Given the description of an element on the screen output the (x, y) to click on. 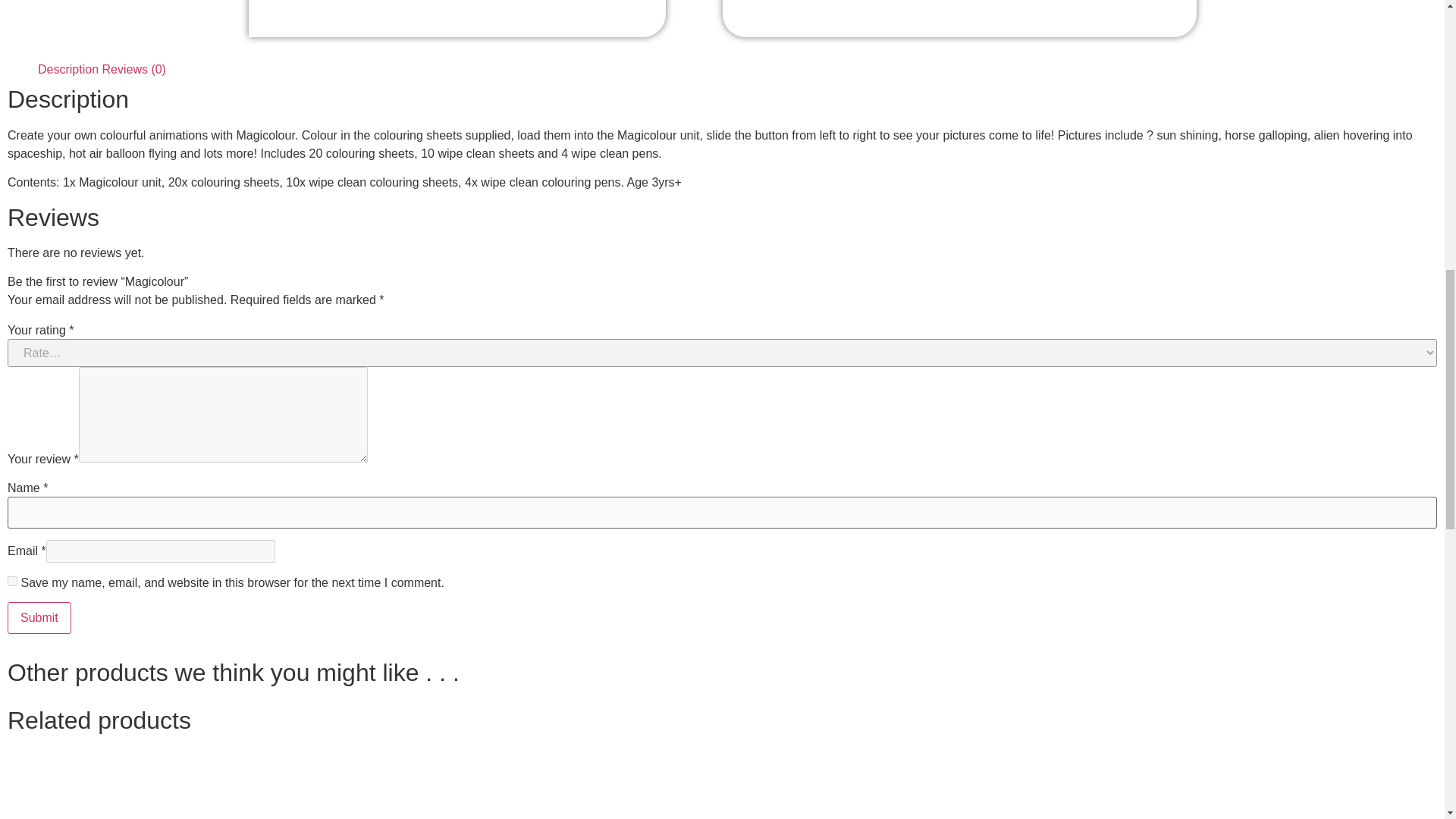
Submit (39, 617)
yes (12, 581)
